Given the description of an element on the screen output the (x, y) to click on. 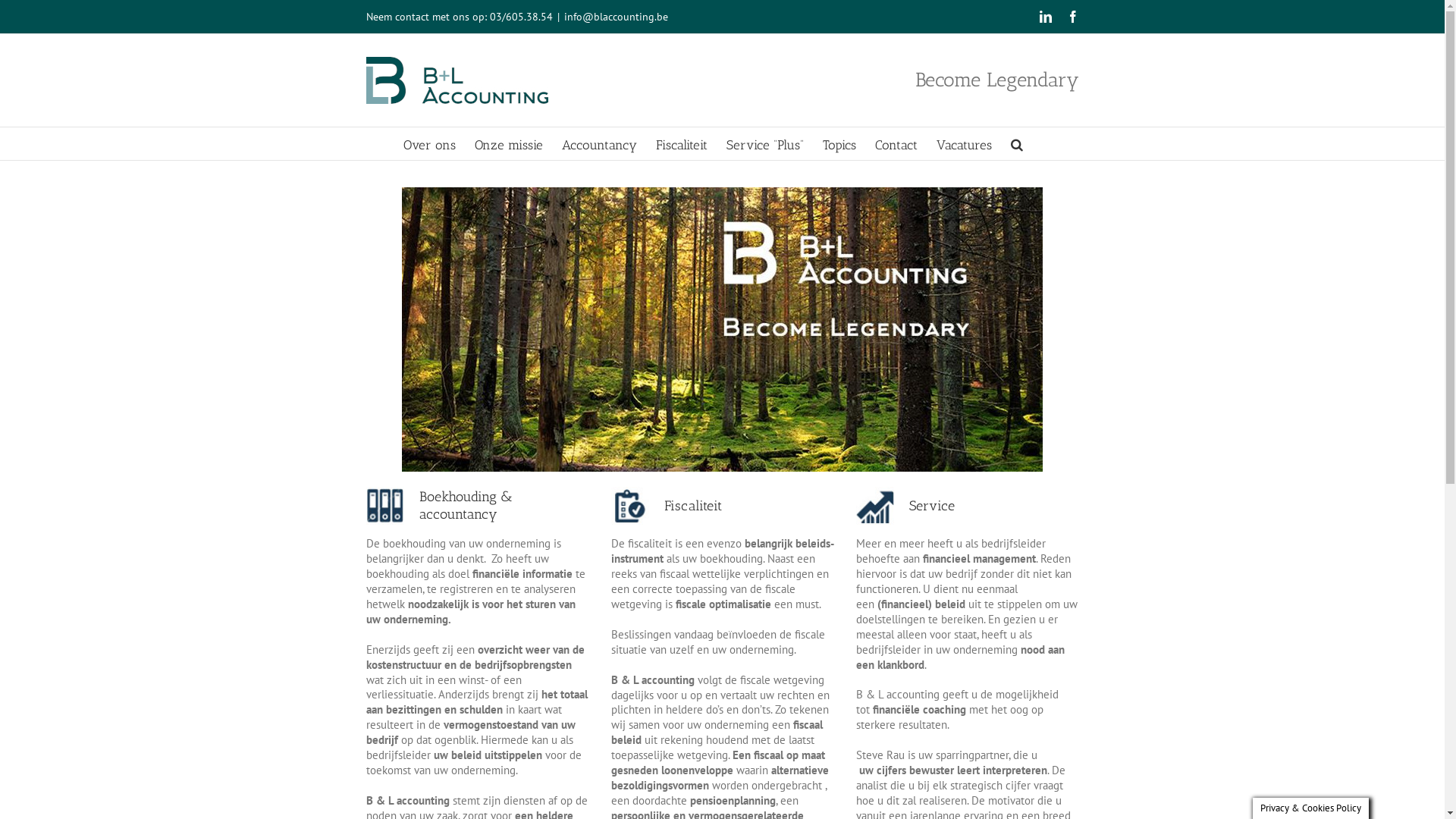
info@blaccounting.be Element type: text (616, 16)
Service Element type: text (905, 505)
Fiscaliteit Element type: text (680, 143)
Boekhouding & accountancy Element type: text (476, 505)
Search Element type: hover (1016, 143)
Contact Element type: text (896, 143)
Onze missie Element type: text (508, 143)
LinkedIn Element type: text (1044, 16)
Topics Element type: text (838, 143)
Vacatures Element type: text (963, 143)
Fiscaliteit Element type: text (666, 505)
Over ons Element type: text (429, 143)
BL Home Element type: hover (721, 329)
Accountancy Element type: text (598, 143)
Facebook Element type: text (1072, 16)
